Given the description of an element on the screen output the (x, y) to click on. 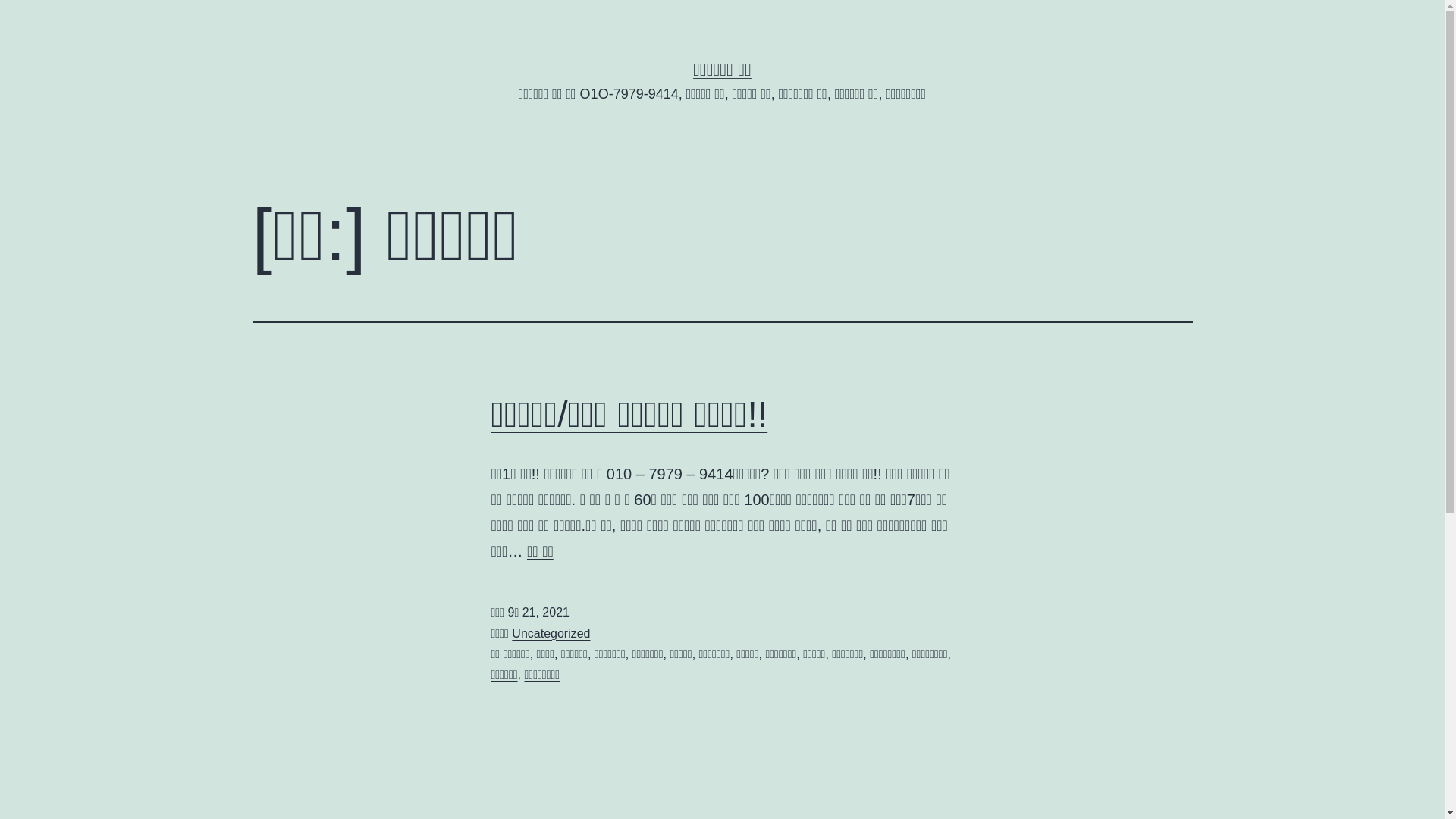
Uncategorized Element type: text (550, 633)
